Given the description of an element on the screen output the (x, y) to click on. 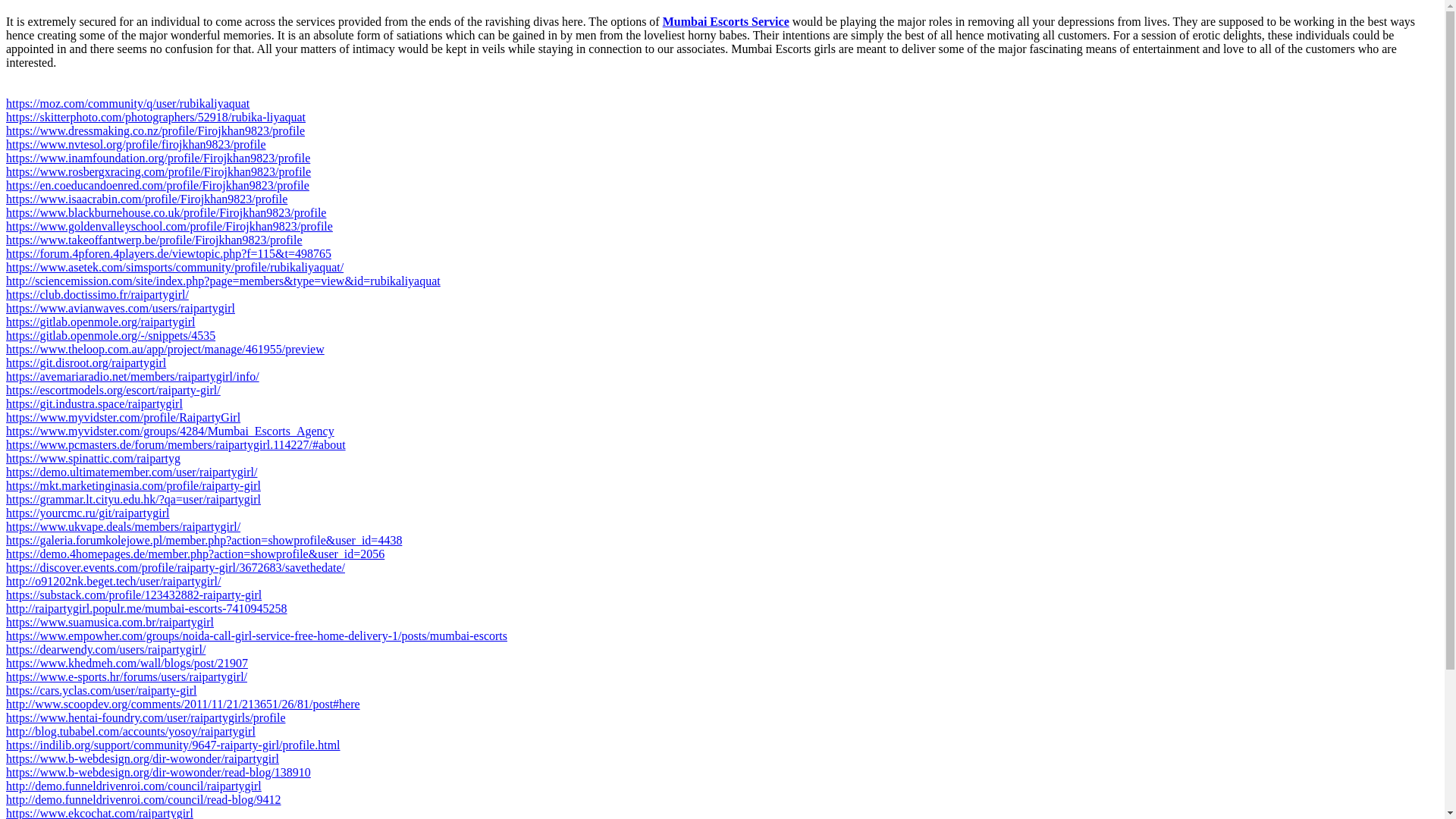
Mumbai Escorts Service (725, 21)
